Given the description of an element on the screen output the (x, y) to click on. 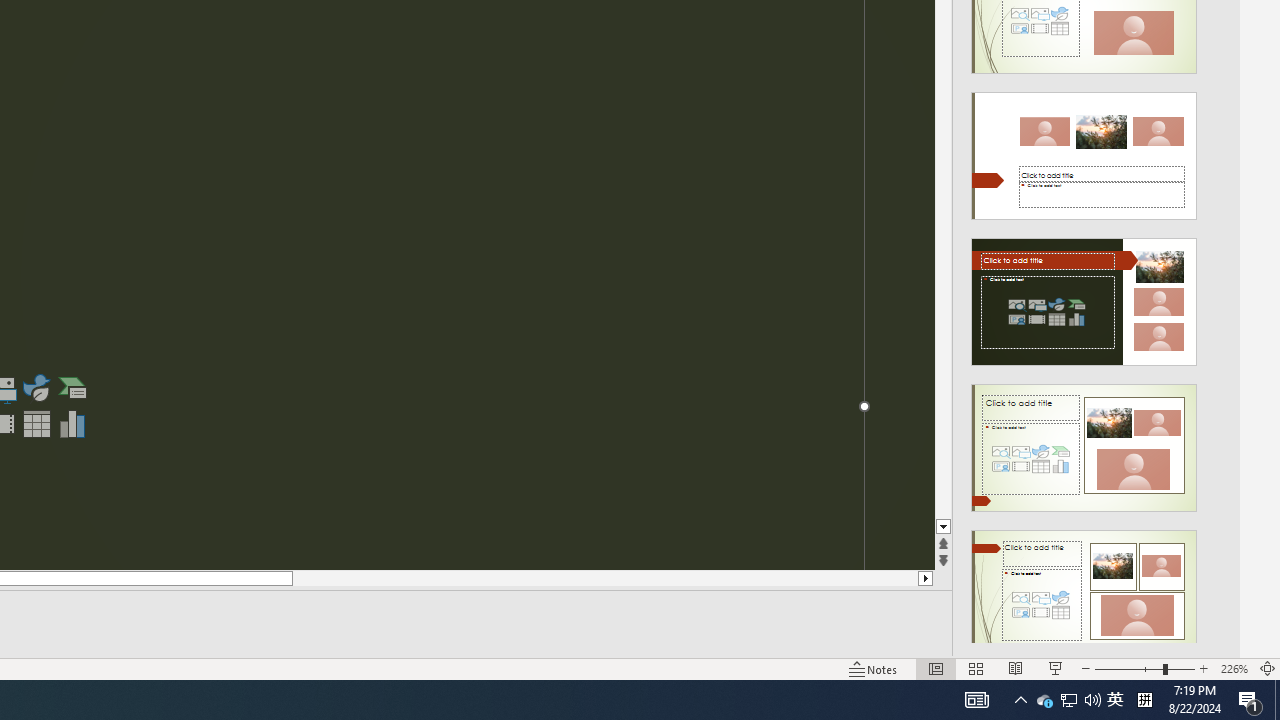
Insert an Icon (36, 387)
Insert Chart (73, 423)
Insert Table (36, 423)
Insert a SmartArt Graphic (73, 387)
